Given the description of an element on the screen output the (x, y) to click on. 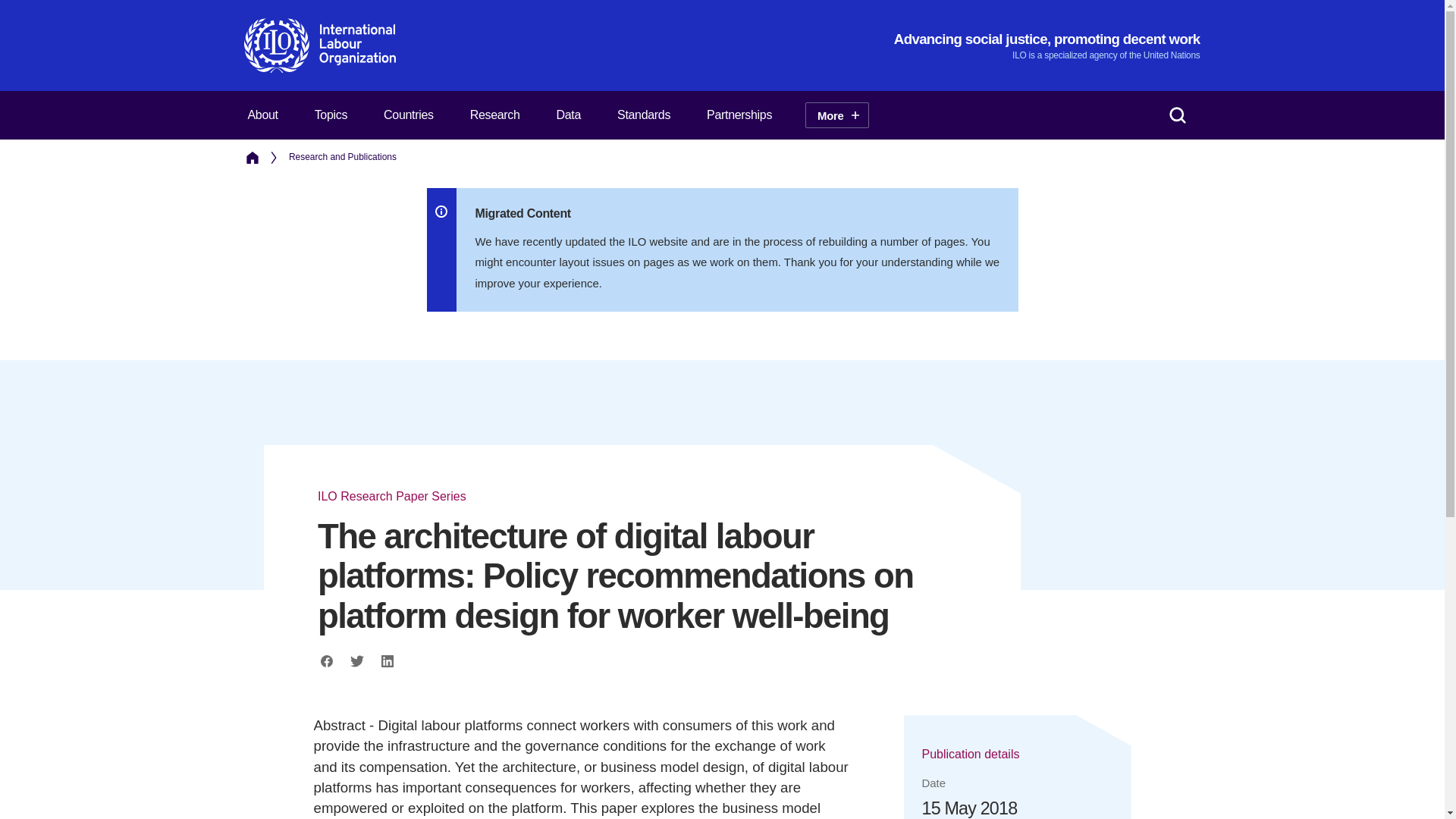
Search (1176, 114)
Countries (408, 114)
Facebook (326, 660)
Linkedin (387, 660)
Standards (643, 114)
More (836, 114)
Research (494, 114)
Research and Publications (342, 157)
Partnerships (739, 114)
Linkedin (387, 660)
